Given the description of an element on the screen output the (x, y) to click on. 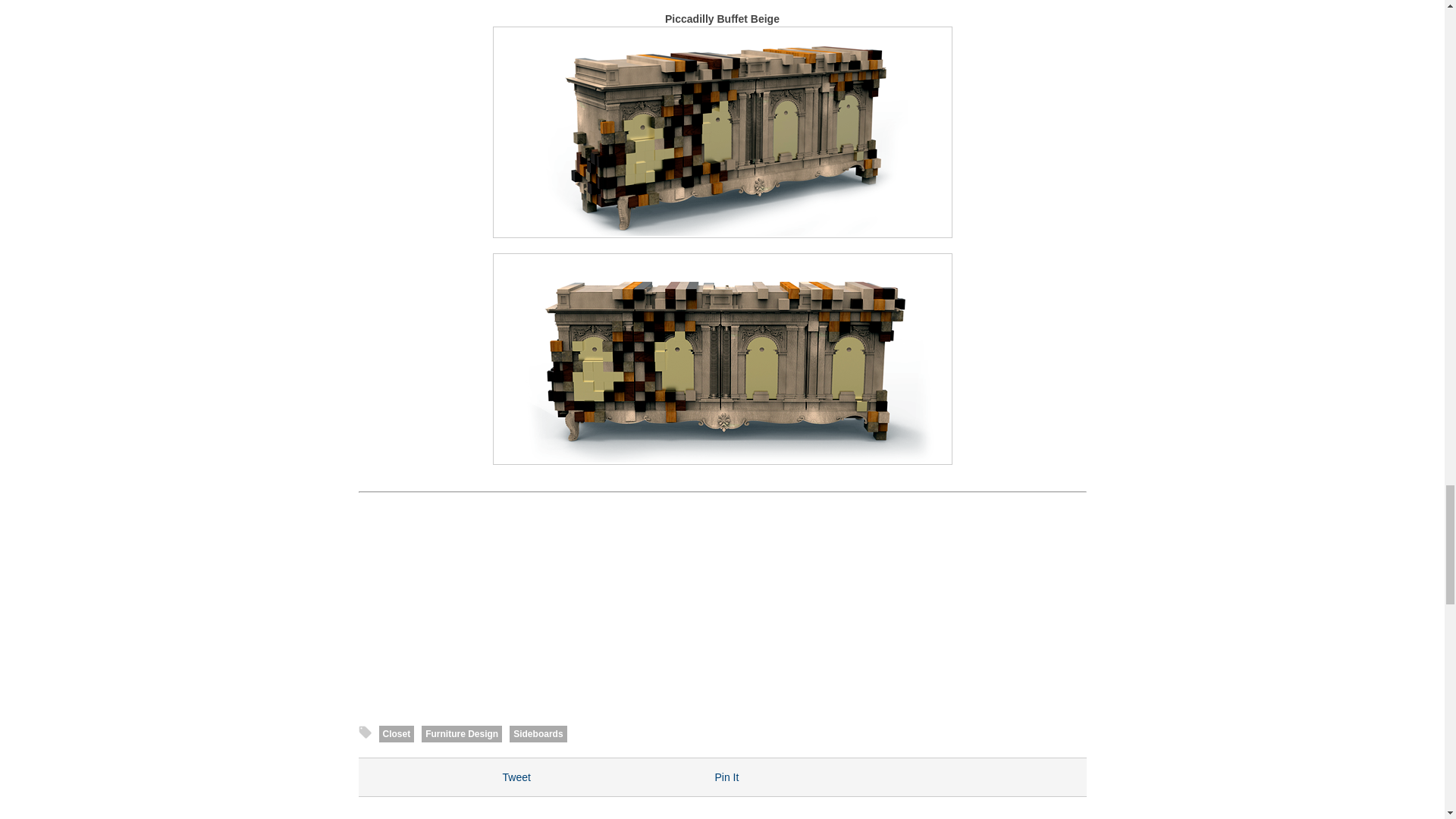
Sideboards (537, 733)
Pin It (726, 776)
Closet (396, 733)
Tweet (515, 776)
Furniture Design (462, 733)
